Given the description of an element on the screen output the (x, y) to click on. 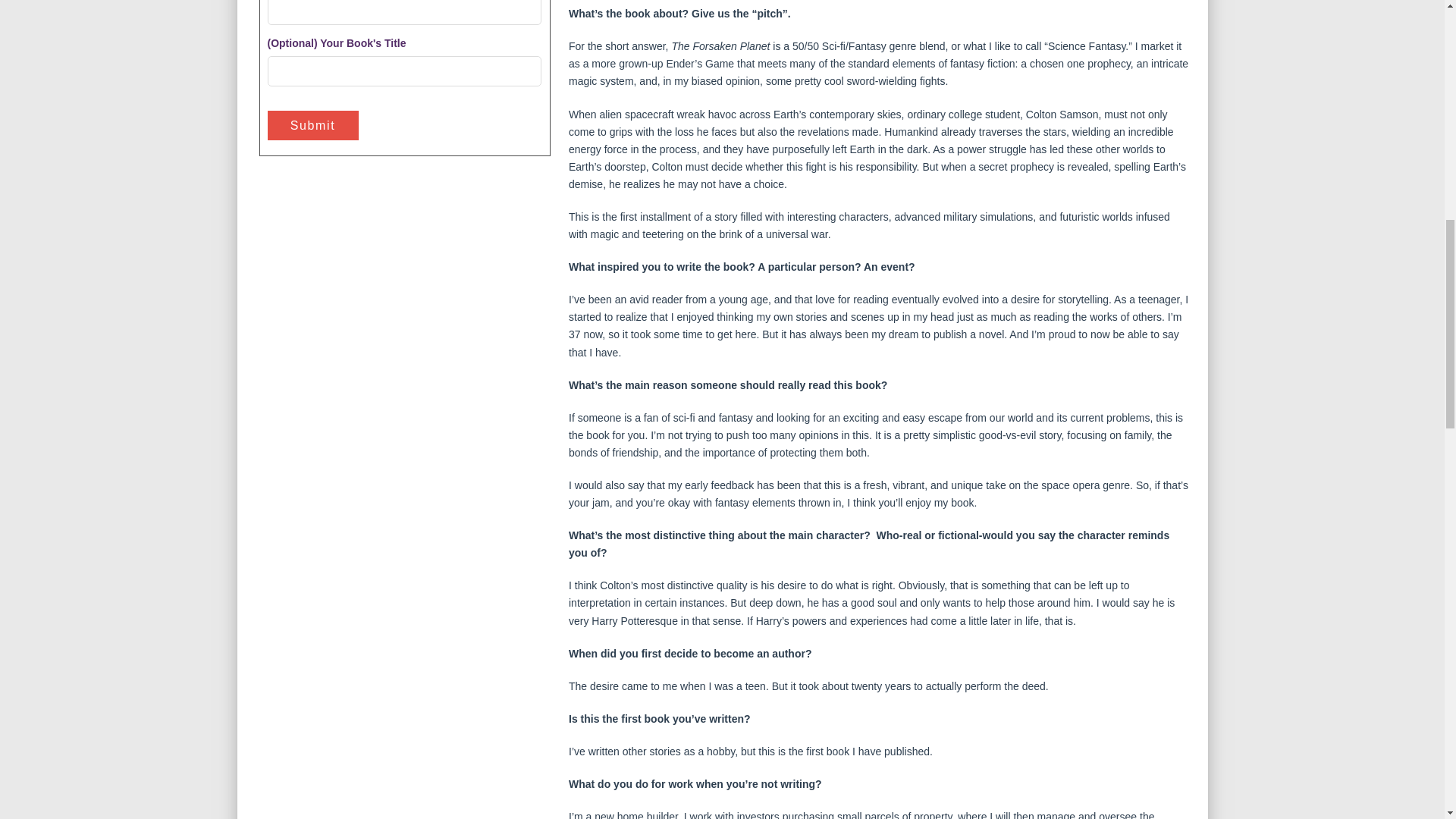
Submit (312, 125)
Submit (312, 125)
